Given the description of an element on the screen output the (x, y) to click on. 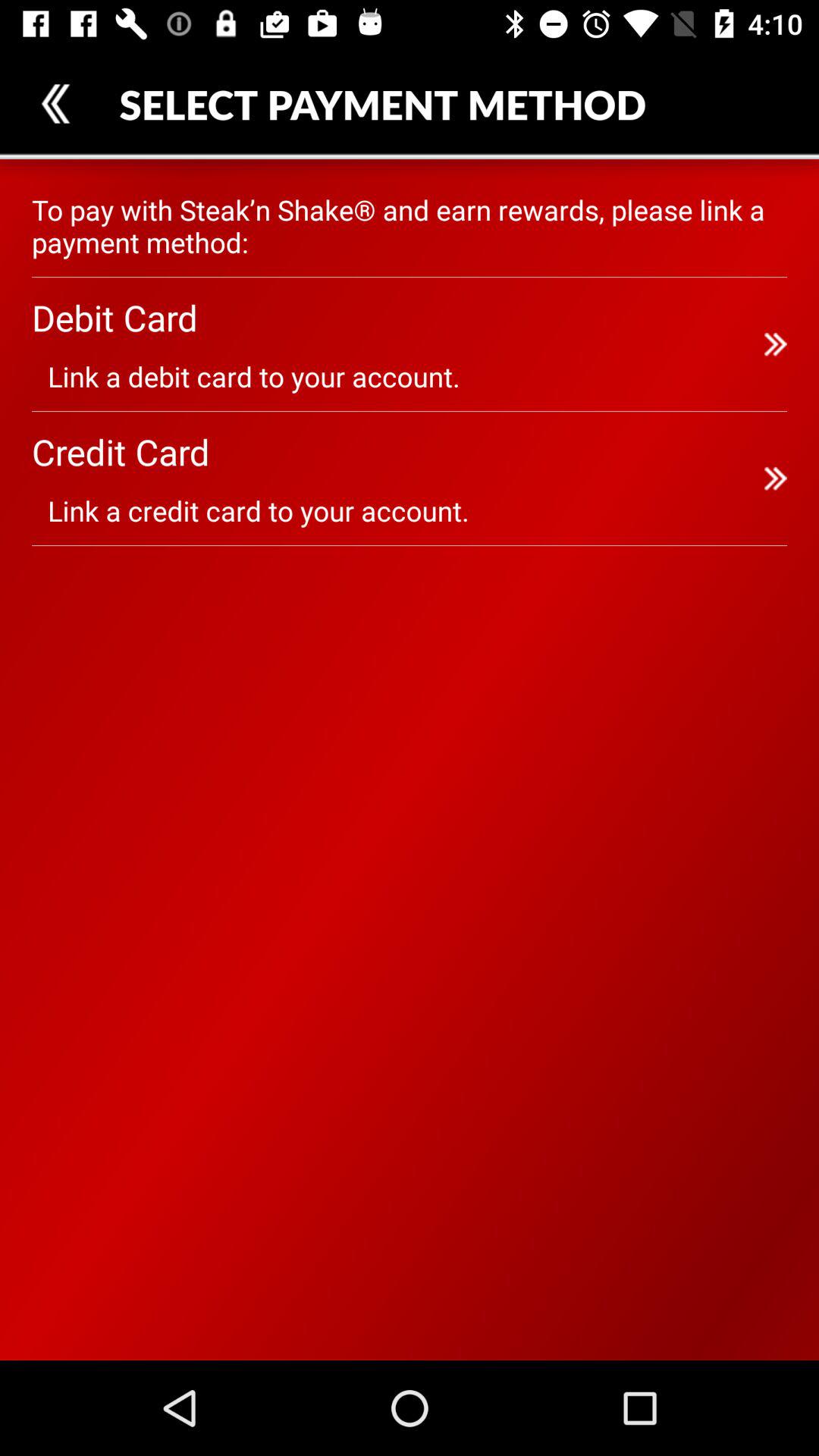
select item at the top left corner (55, 103)
